Given the description of an element on the screen output the (x, y) to click on. 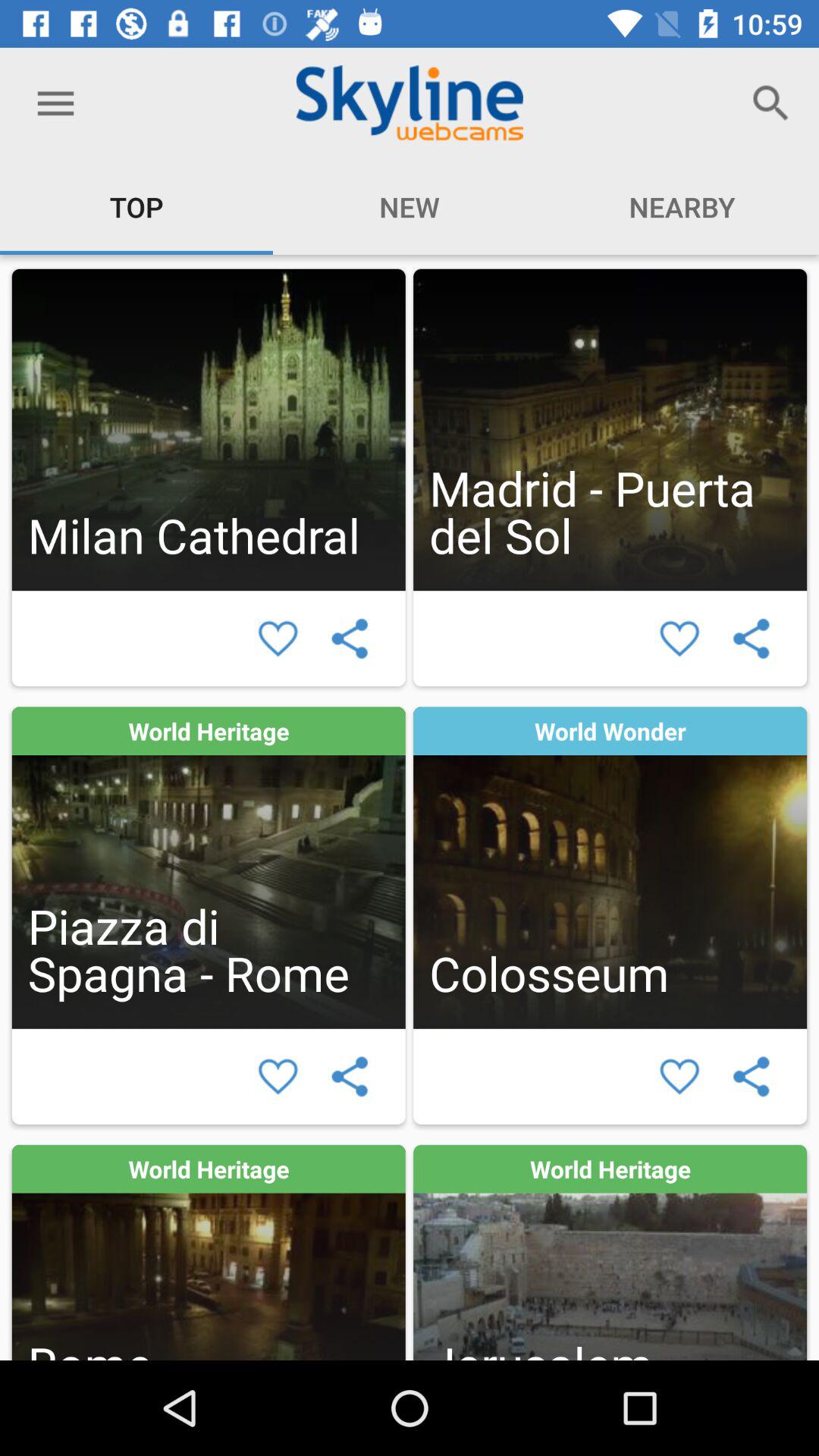
view the webcam (208, 867)
